Given the description of an element on the screen output the (x, y) to click on. 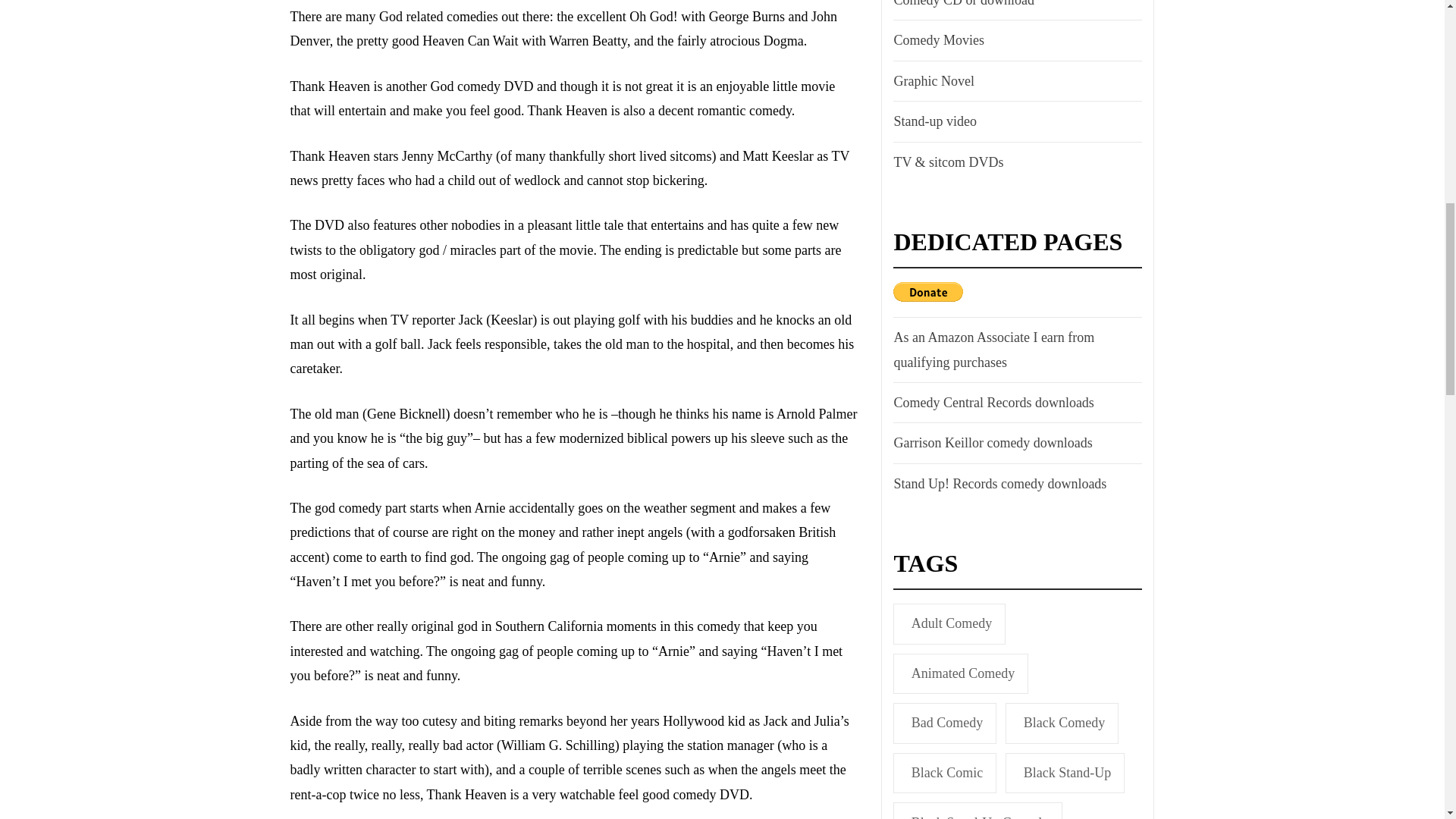
As an Amazon Associate I earn from qualifying purchases (1015, 349)
Comedy CD or download (961, 6)
Comedy Movies (936, 39)
Graphic Novel (931, 80)
Stand-up video (932, 120)
PayPal - The safer, easier way to pay online! (927, 291)
